Given the description of an element on the screen output the (x, y) to click on. 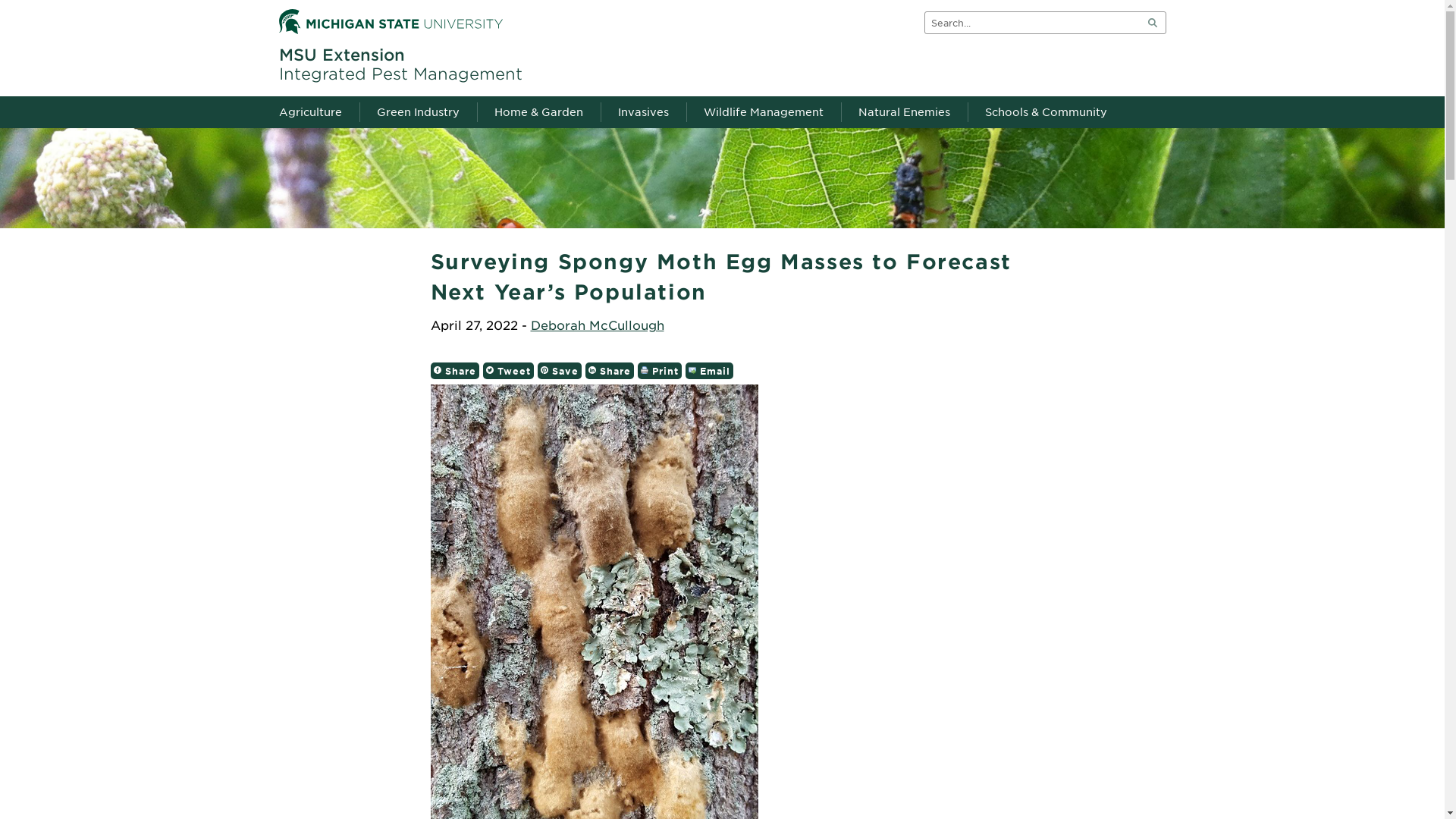
Agriculture (317, 112)
Wildlife Management (762, 112)
Email (709, 370)
Print (659, 370)
Natural Enemies (902, 112)
Save (558, 370)
Tweet (506, 370)
MSU Extension (341, 54)
Integrated Pest Management (400, 73)
Share (609, 370)
search (1151, 22)
Invasives (640, 112)
Deborah McCullough (597, 325)
Green Industry (415, 112)
Share (454, 370)
